Given the description of an element on the screen output the (x, y) to click on. 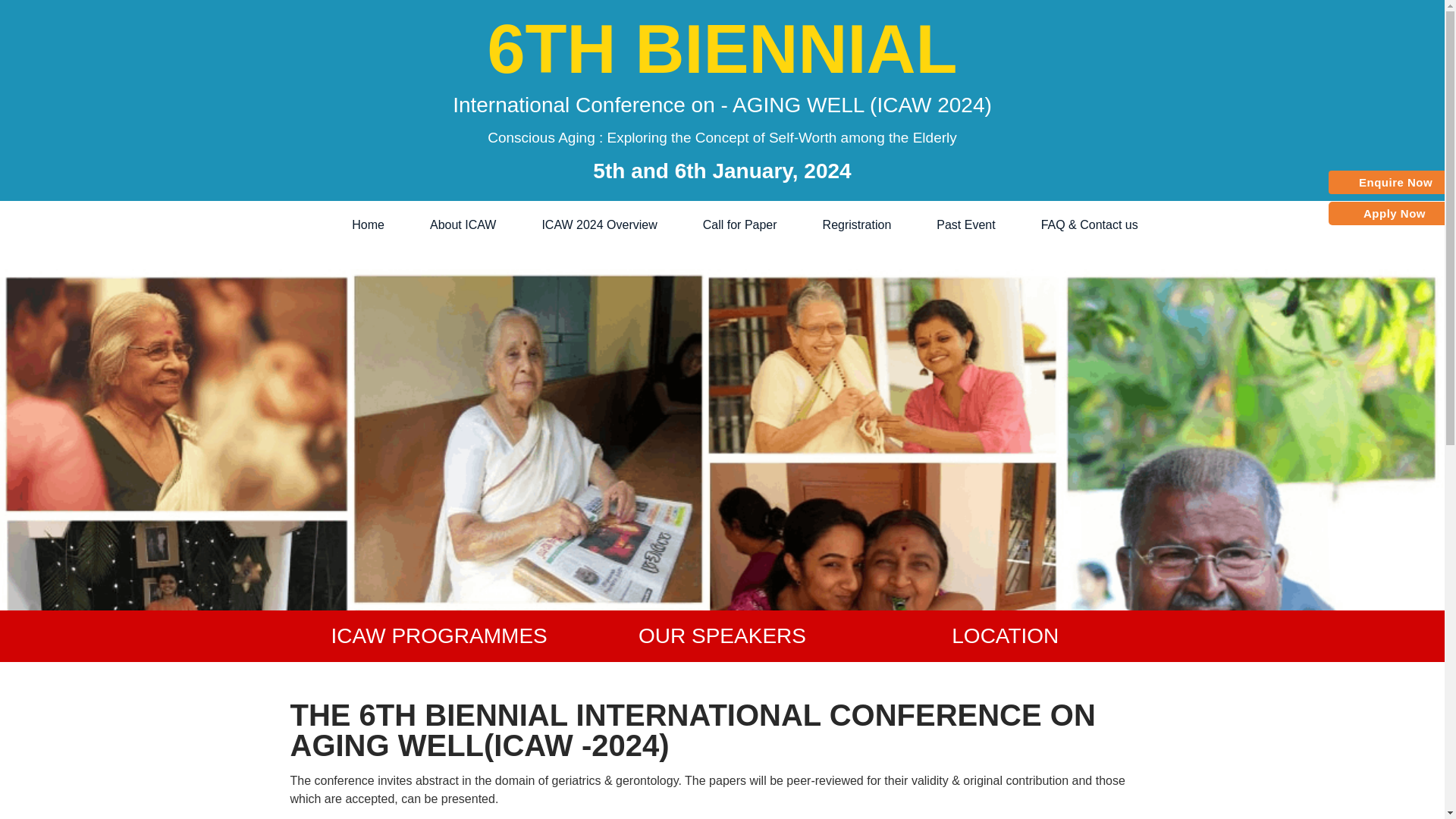
Home (344, 224)
About ICAW (440, 224)
Call for Paper (717, 224)
Regristration (834, 224)
ICAW 2024 Overview (576, 224)
Past Event (942, 224)
Apply Now (1393, 213)
